Given the description of an element on the screen output the (x, y) to click on. 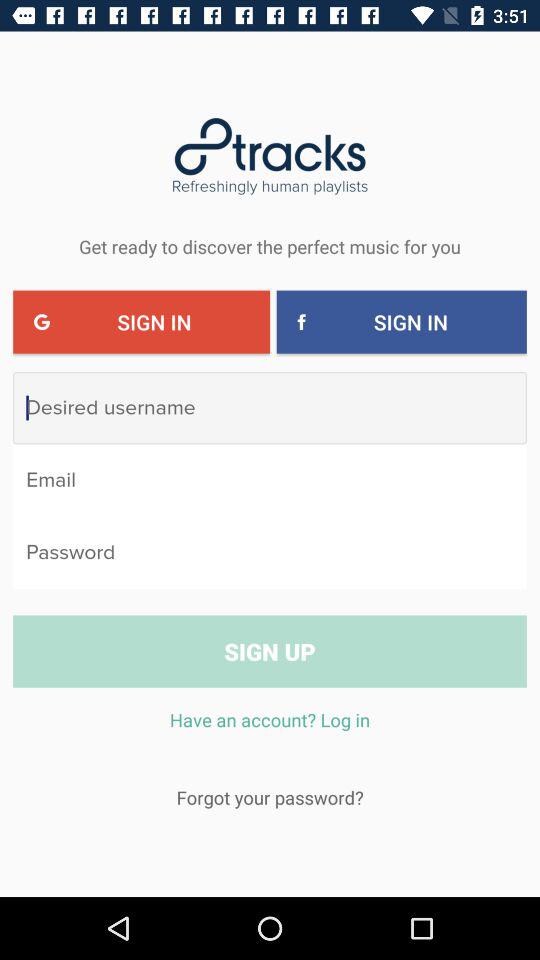
enter email address (269, 480)
